Given the description of an element on the screen output the (x, y) to click on. 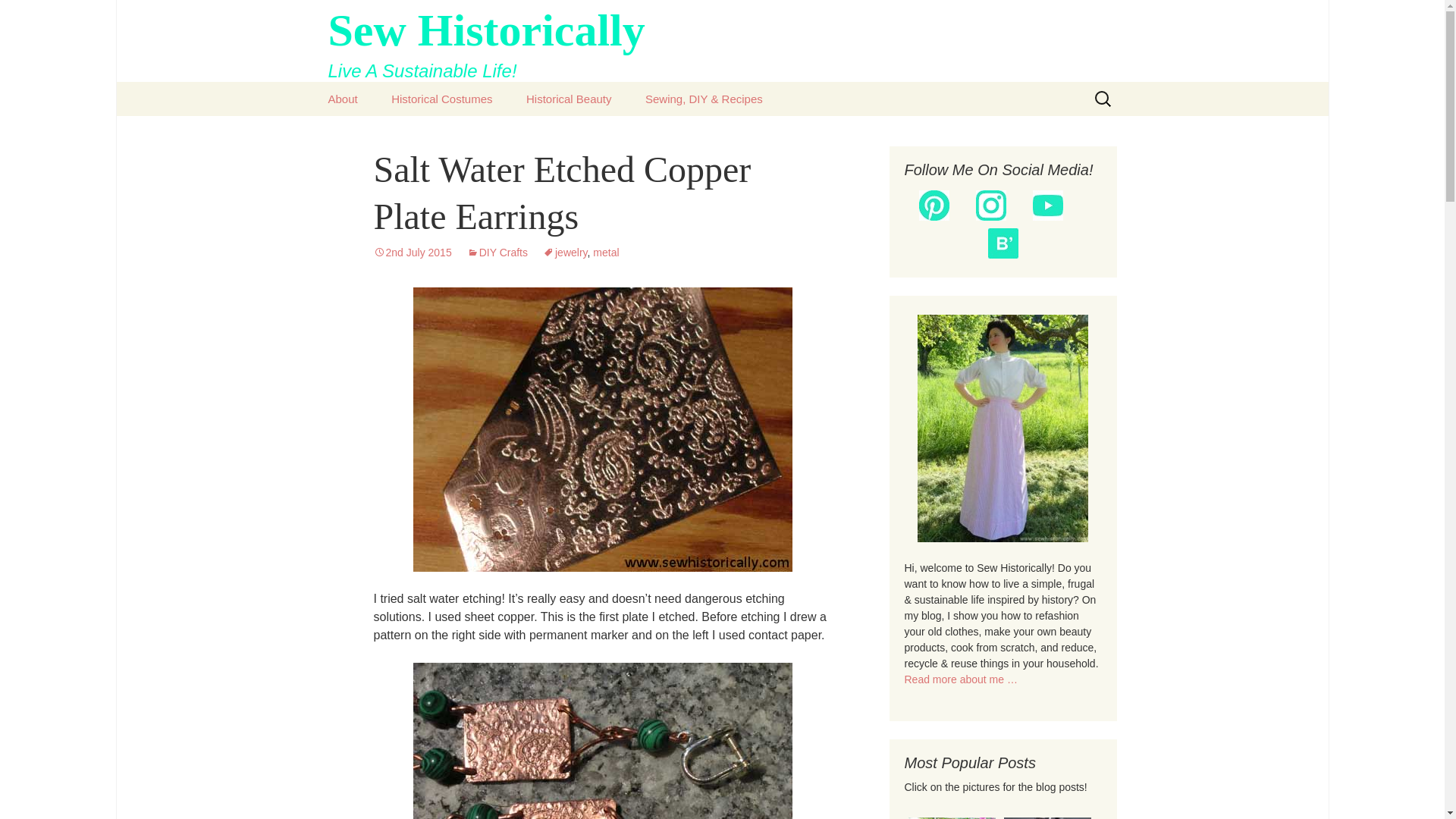
metal (605, 252)
About (342, 98)
Historical Beauty (569, 98)
DIY Crafts (497, 252)
jewelry (722, 40)
Historical Costumes (565, 252)
Permalink to Salt Water Etched Copper Plate Earrings (440, 98)
Skip to content (411, 252)
